Given the description of an element on the screen output the (x, y) to click on. 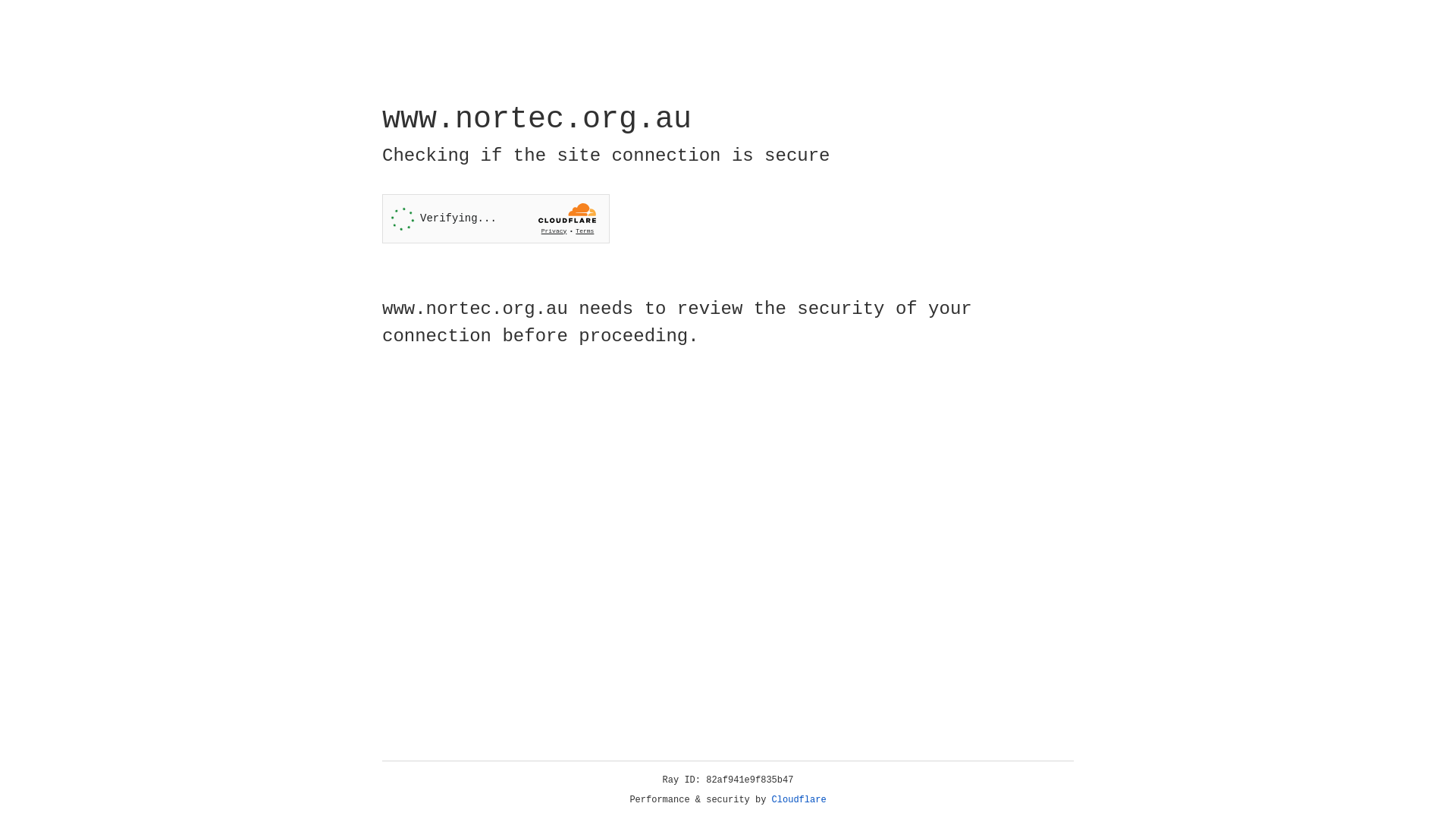
Cloudflare Element type: text (798, 799)
Widget containing a Cloudflare security challenge Element type: hover (495, 218)
